Given the description of an element on the screen output the (x, y) to click on. 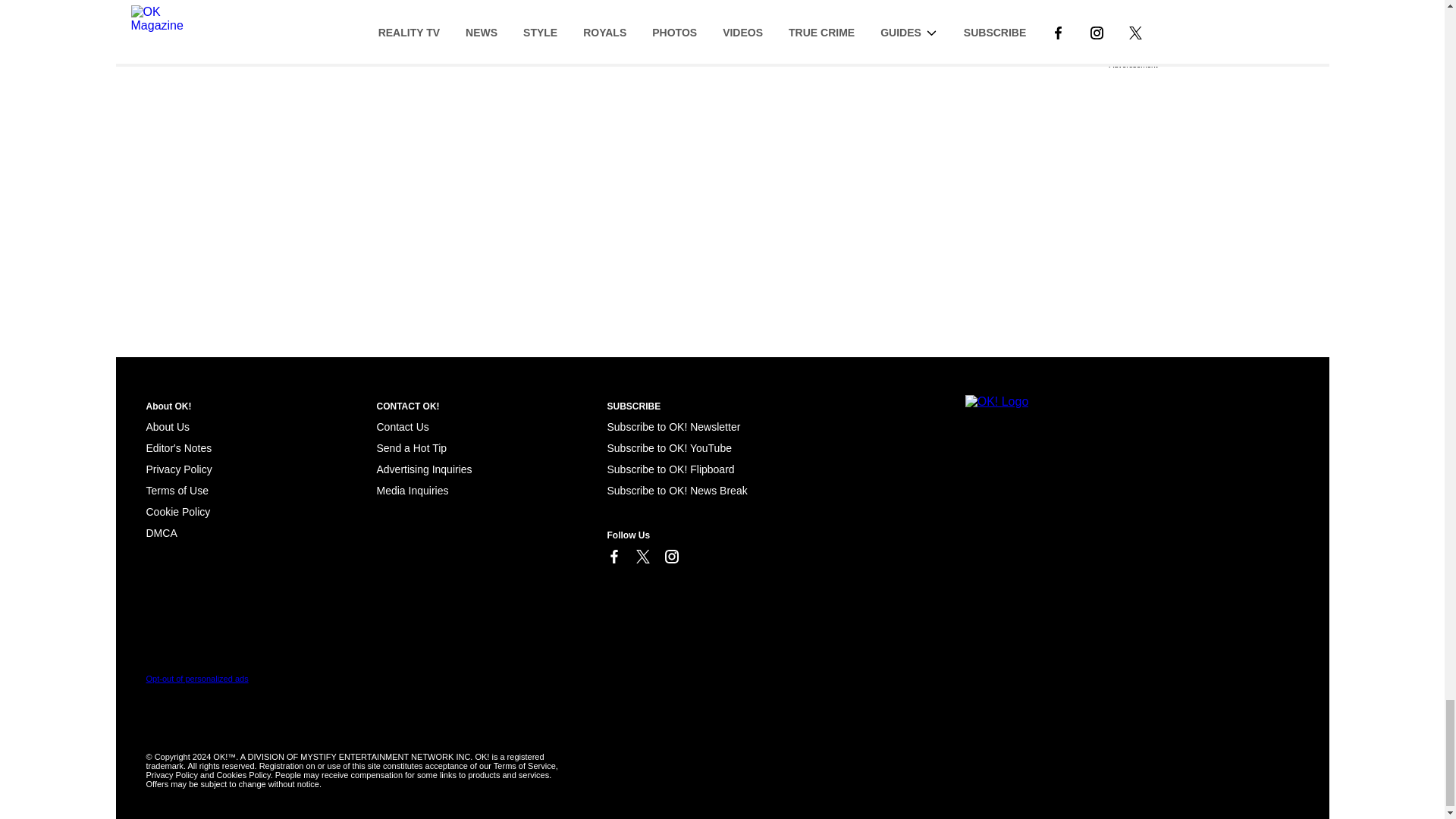
Send a Hot Tip (410, 448)
Privacy Policy (178, 469)
Cookie Policy (160, 532)
About Us (167, 426)
Cookie Policy (177, 511)
Link to Facebook (613, 556)
Terms of Use (176, 490)
Contact Us (401, 426)
Link to X (641, 556)
Link to Instagram (670, 556)
